Given the description of an element on the screen output the (x, y) to click on. 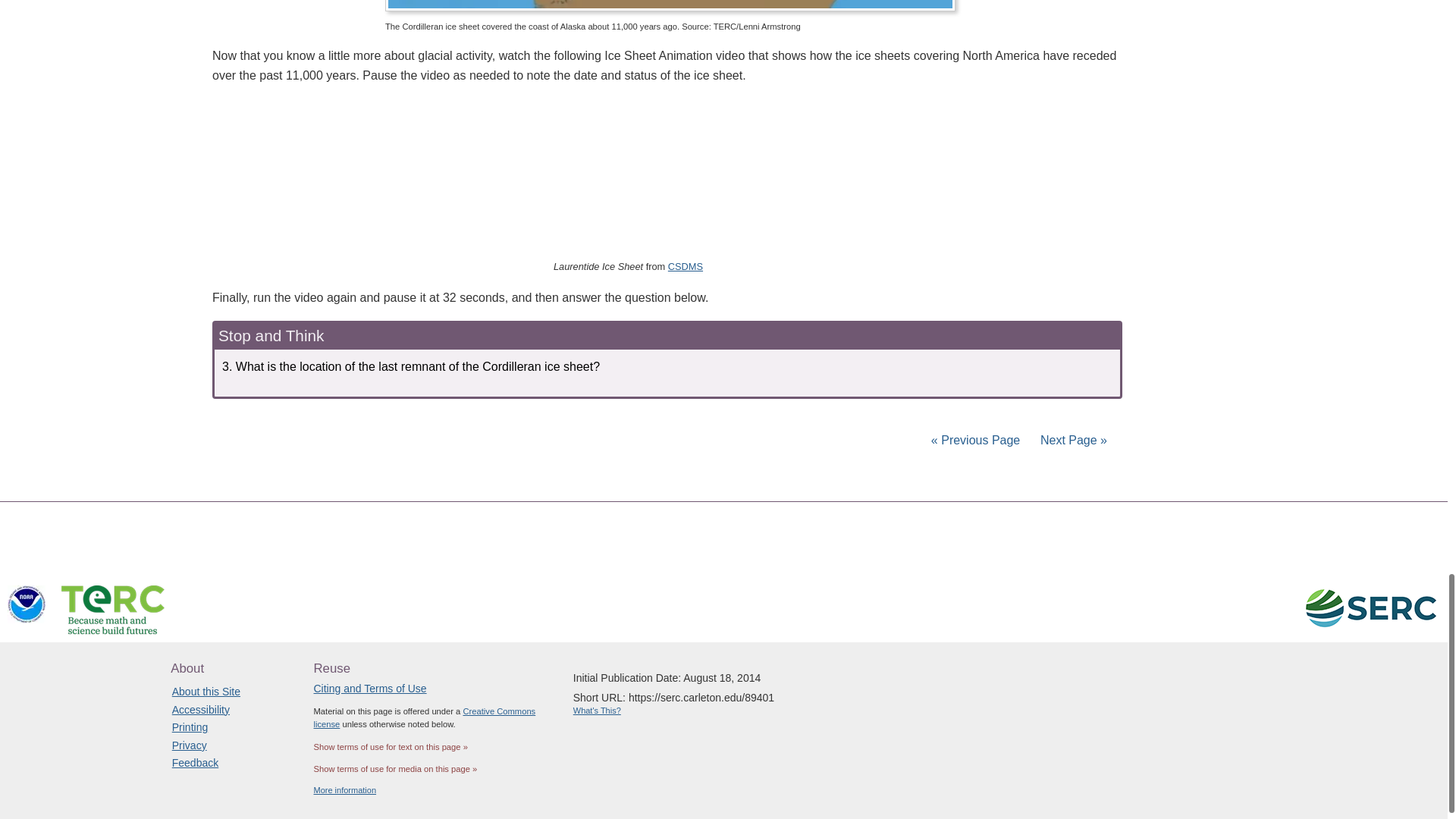
CSDMS (685, 266)
Laurentide Ice Sheet (654, 173)
